Given the description of an element on the screen output the (x, y) to click on. 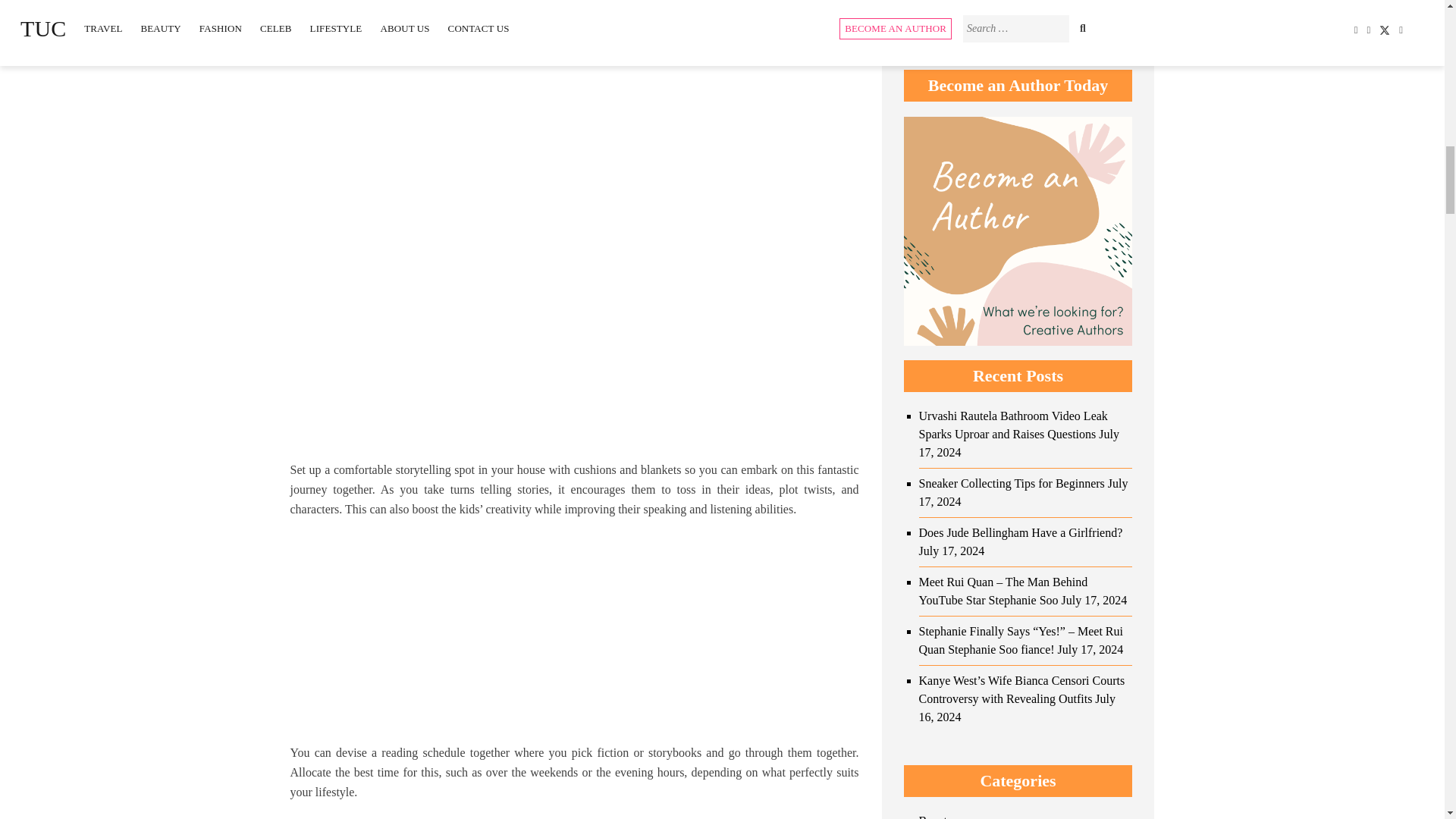
Advertisement (574, 636)
